Given the description of an element on the screen output the (x, y) to click on. 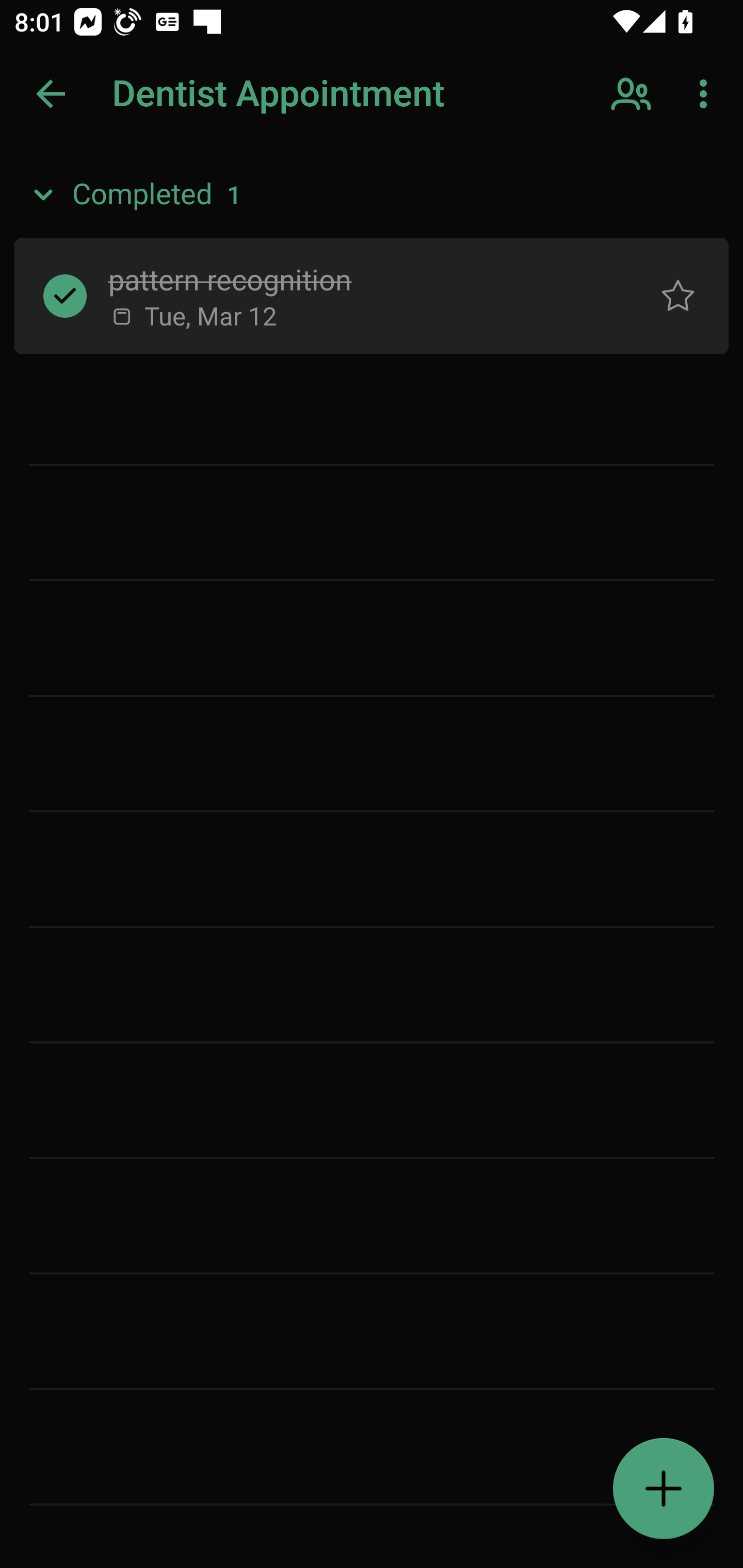
Back (50, 93)
Sharing options (632, 93)
More options (706, 93)
Completed, 1 item, Expanded Completed 1 (371, 195)
Completed task pattern recognition, Button (64, 295)
Normal task pattern recognition, Button (677, 295)
pattern recognition (356, 277)
Add a task (663, 1488)
